Given the description of an element on the screen output the (x, y) to click on. 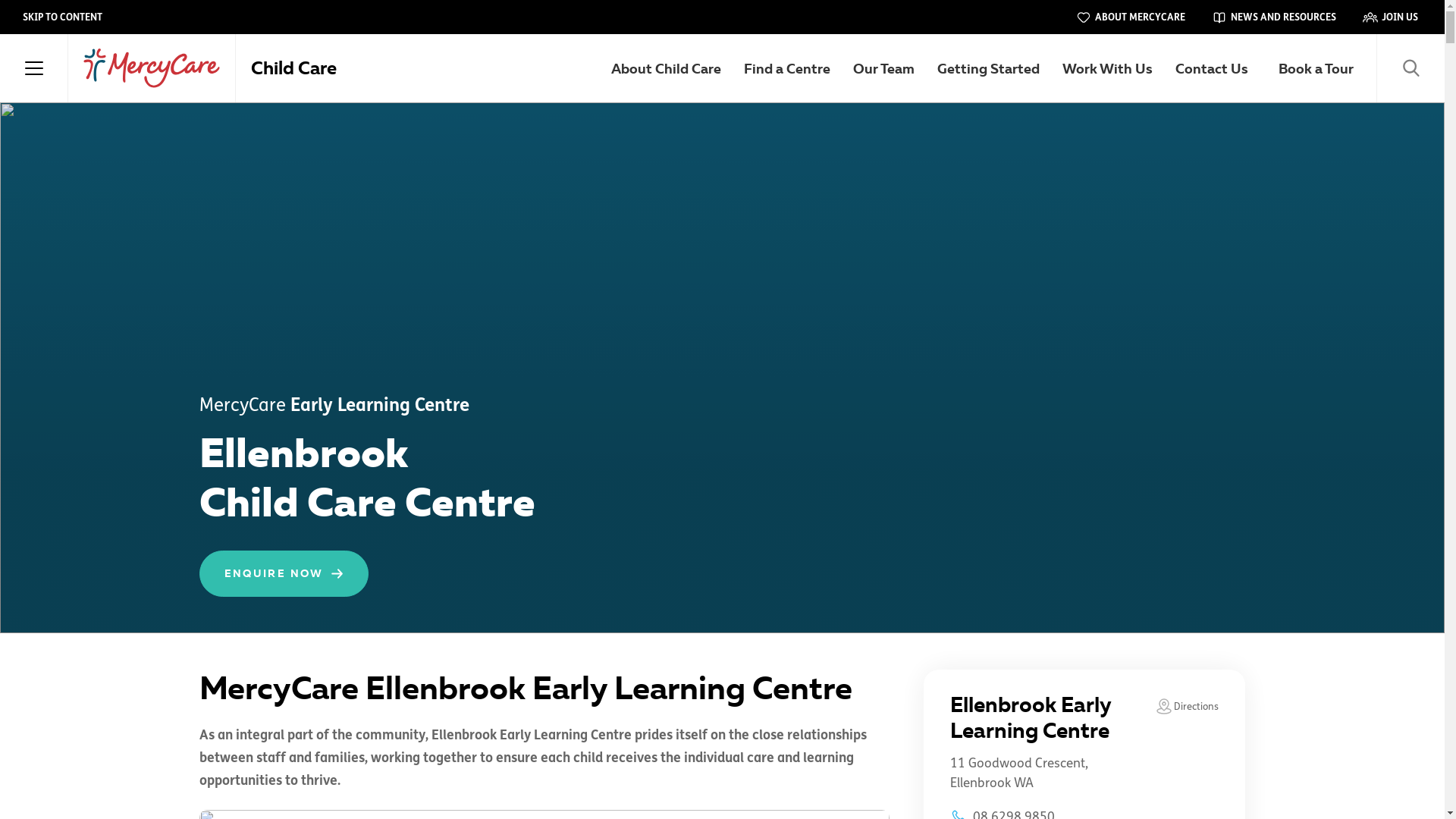
Book a Tour Element type: text (1316, 68)
Getting Started Element type: text (988, 68)
Work With Us Element type: text (1107, 68)
Contact Us Element type: text (1211, 68)
Search Element type: text (269, 68)
Child Care Element type: text (293, 68)
ENQUIRE NOW Element type: text (282, 573)
ABOUT MERCYCARE Element type: text (1130, 17)
NEWS AND RESOURCES Element type: text (1273, 17)
Find a Centre Element type: text (786, 68)
Directions Element type: text (1186, 707)
Search Element type: text (1410, 68)
Mercy Care Element type: text (151, 68)
Our Team Element type: text (883, 68)
SKIP TO CONTENT Element type: text (62, 17)
JOIN US Element type: text (1390, 17)
About Child Care Element type: text (665, 68)
